Given the description of an element on the screen output the (x, y) to click on. 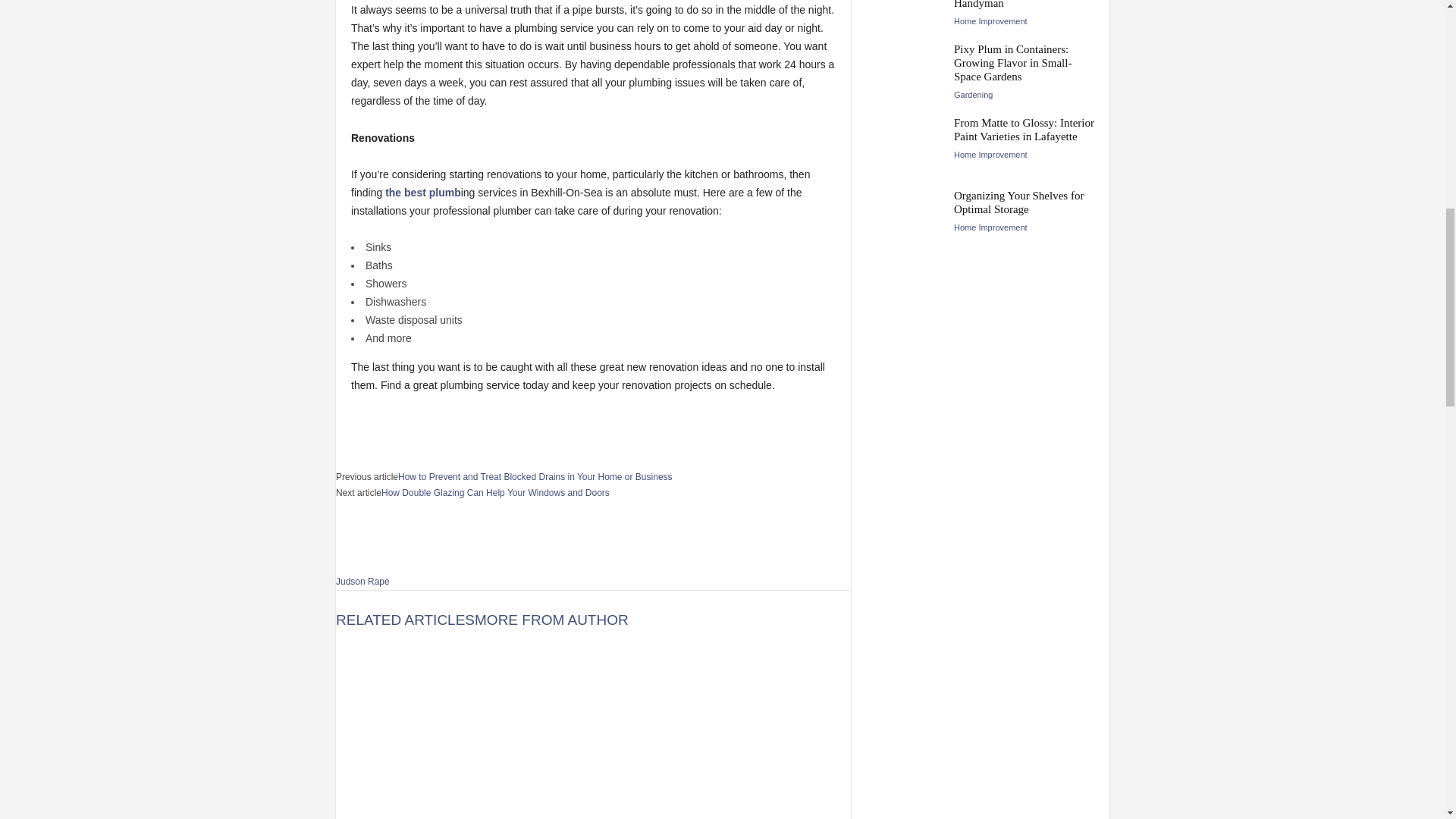
the best plumb (423, 192)
How Double Glazing Can Help Your Windows and Doors (495, 492)
Judson Rape (363, 581)
bottomFacebookLike (390, 420)
MORE FROM AUTHOR (551, 619)
Three Services a Boiler Repair Contractor Should Offer (593, 730)
RELATED ARTICLES (405, 619)
